Given the description of an element on the screen output the (x, y) to click on. 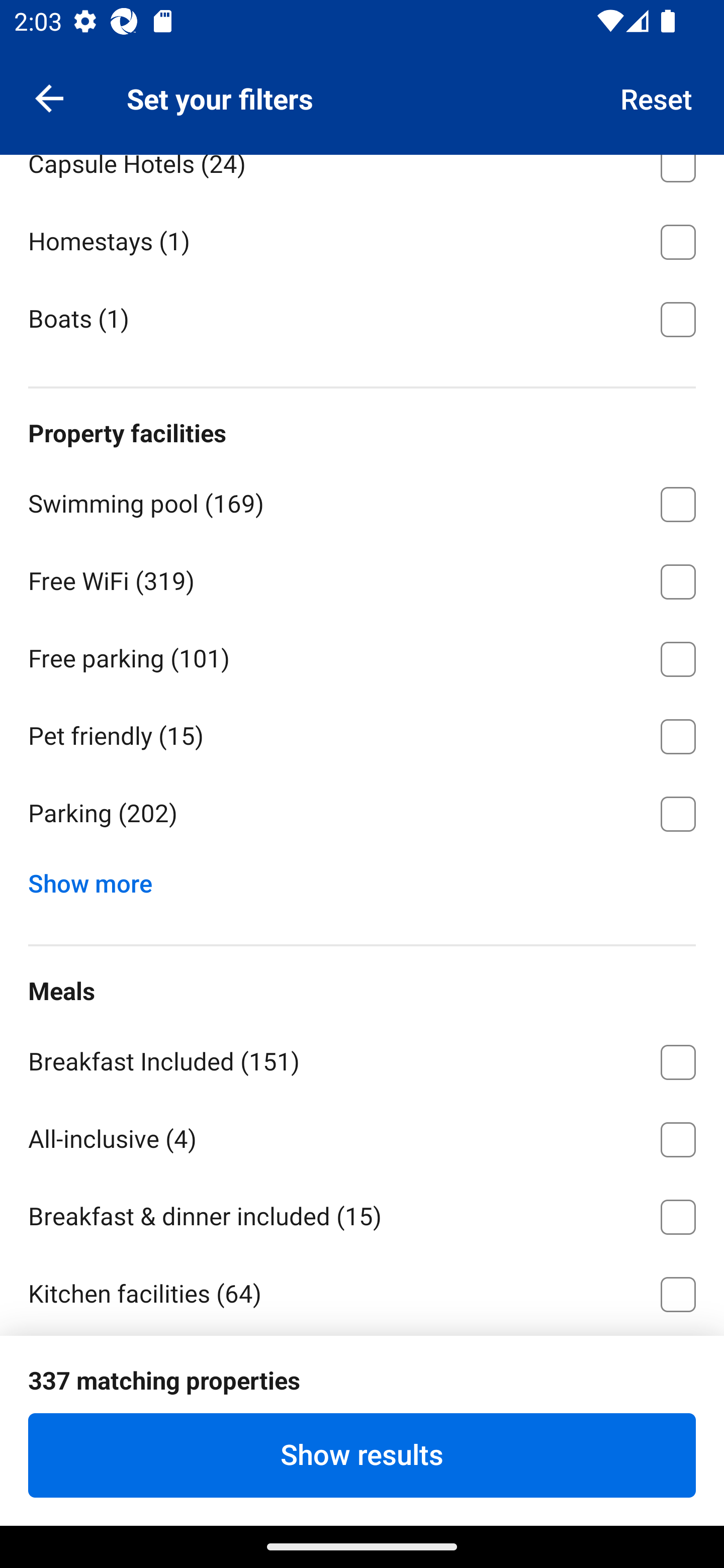
Guesthouses ⁦(1) (361, 83)
Navigate up (49, 97)
Reset (656, 97)
Capsule Hotels ⁦(24) (361, 177)
Homestays ⁦(1) (361, 238)
Boats ⁦(1) (361, 318)
Swimming pool ⁦(169) (361, 500)
Free WiFi ⁦(319) (361, 578)
Free parking ⁦(101) (361, 655)
Pet friendly ⁦(15) (361, 732)
Parking ⁦(202) (361, 813)
Show more (97, 878)
Breakfast Included ⁦(151) (361, 1058)
All-inclusive ⁦(4) (361, 1135)
Breakfast & dinner included ⁦(15) (361, 1213)
Kitchen facilities ⁦(64) (361, 1290)
Show results (361, 1454)
